Given the description of an element on the screen output the (x, y) to click on. 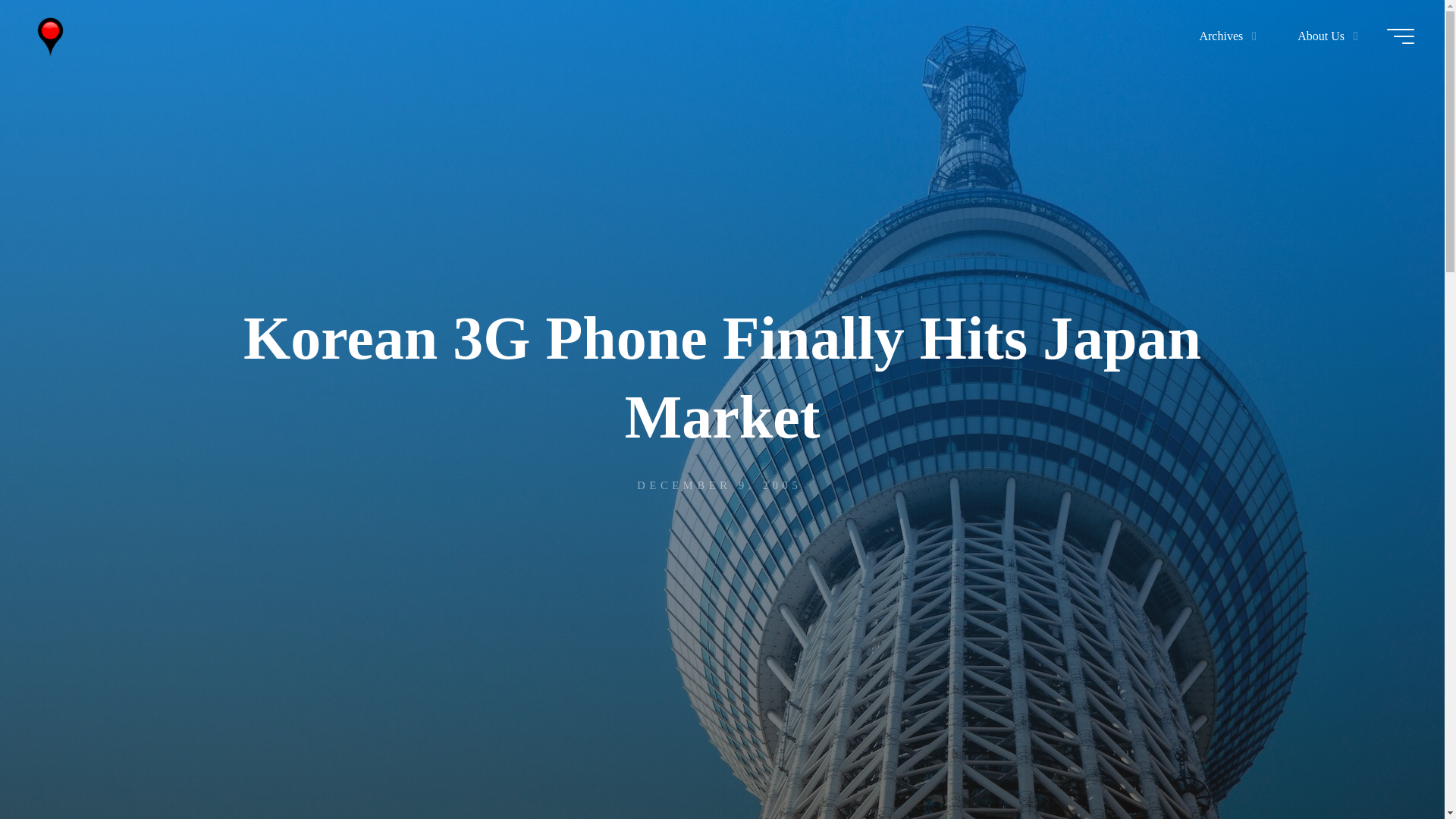
Archives (1223, 35)
Read more (721, 724)
Wireless Watch Japan (49, 35)
